Given the description of an element on the screen output the (x, y) to click on. 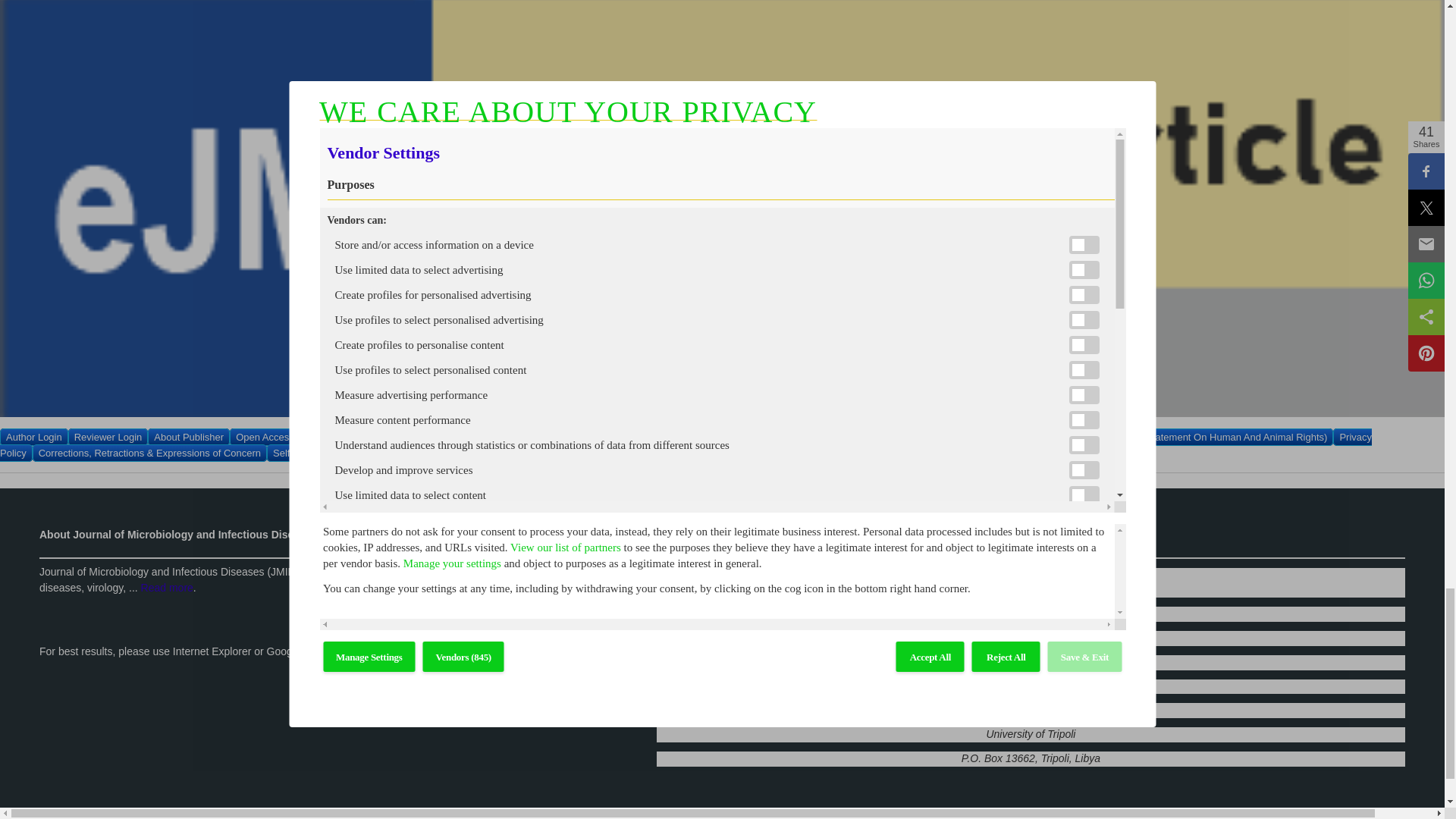
Conflict of Interest Policy (831, 436)
Peer Review Policy (462, 436)
About Publisher (189, 436)
Reviewer Login (108, 436)
Plagiarism Policy (935, 436)
Advertising Policy (756, 452)
Editorial Policies (371, 436)
Self-Archiving Policies (321, 452)
Statement of Informed Consent (636, 452)
Privacy Policy (685, 444)
Publication Ethics and Publication Malpractice Statement (641, 436)
Open Access Policy (279, 436)
Author Login (34, 436)
